Given the description of an element on the screen output the (x, y) to click on. 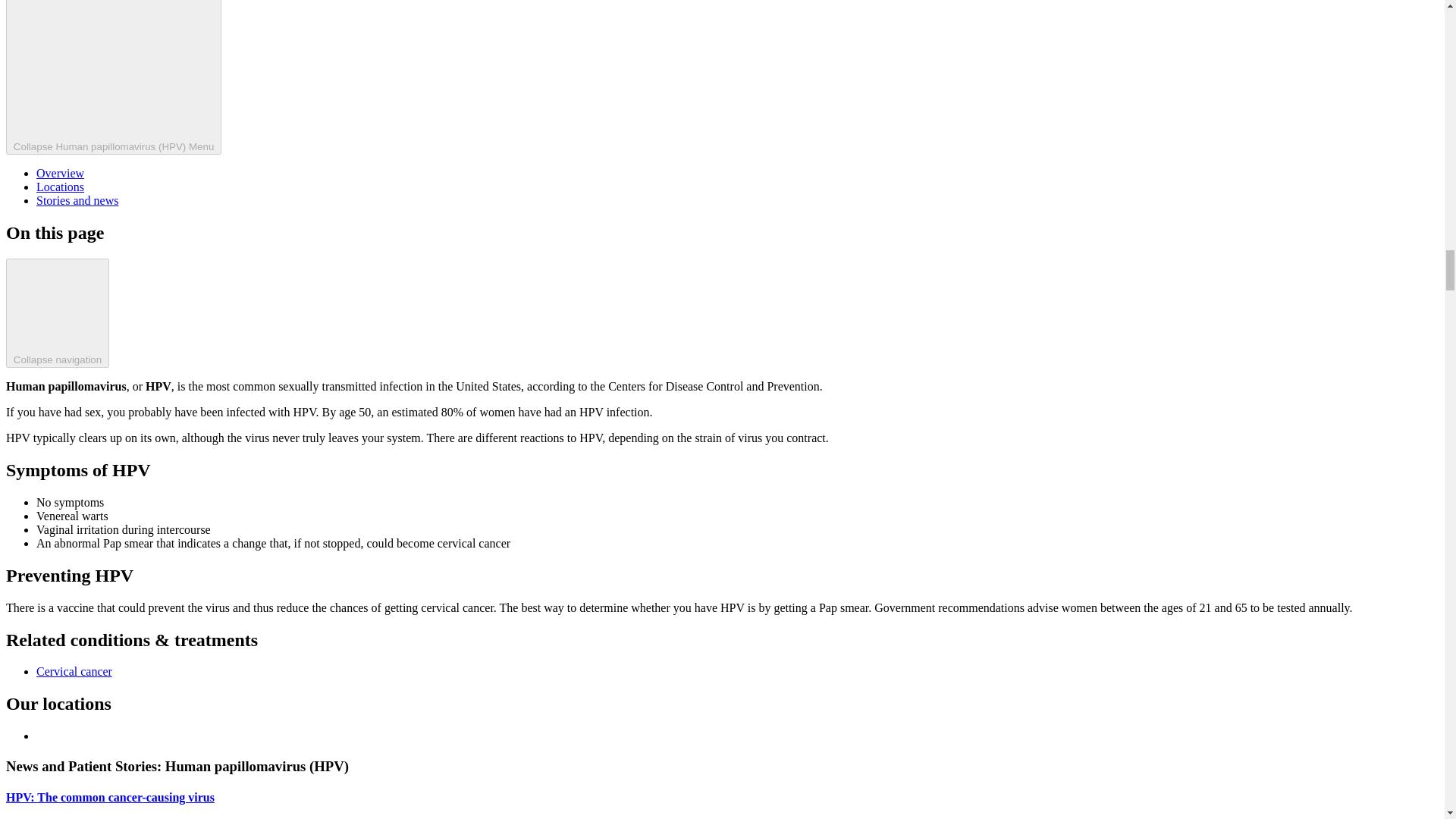
HPV: The common cancer-causing virus (109, 797)
Overview (60, 173)
Stories and news (76, 200)
Cervical cancer (74, 671)
Locations (60, 186)
Collapse navigation (57, 312)
